Given the description of an element on the screen output the (x, y) to click on. 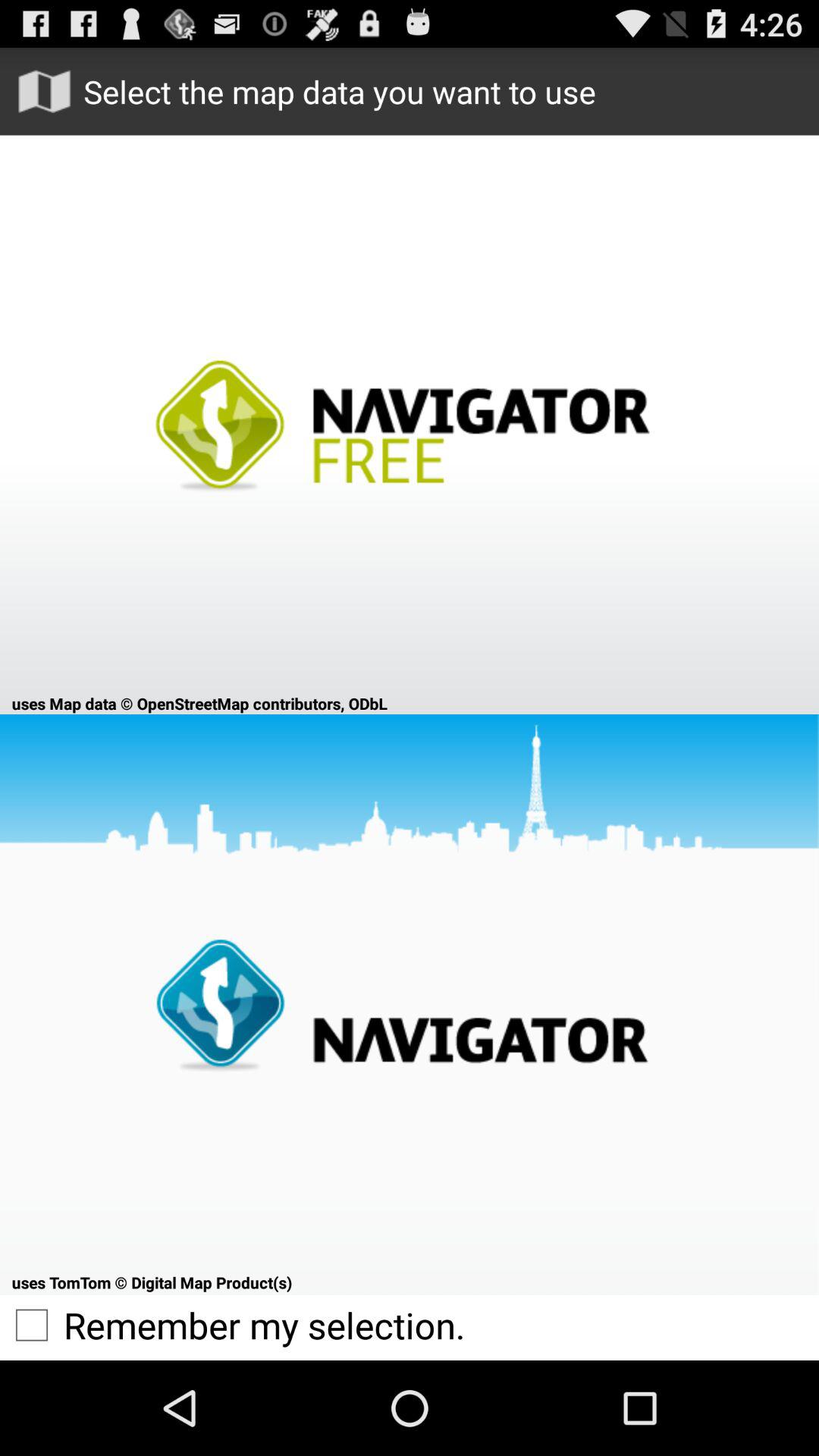
go to tom tom digital map (409, 1004)
